Given the description of an element on the screen output the (x, y) to click on. 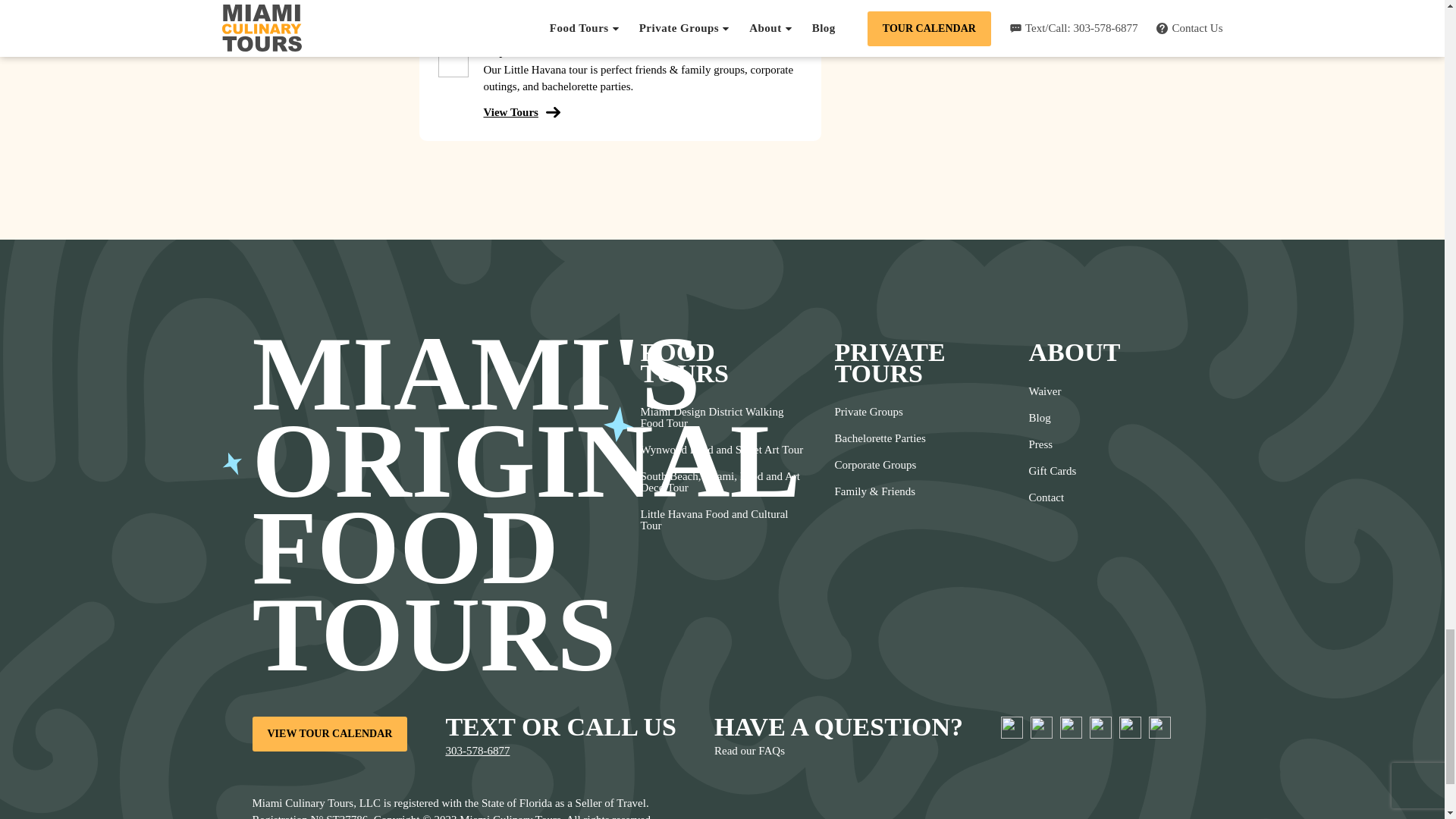
Little Havana Food and Cultural Tour (721, 519)
Bachelorette Parties (879, 438)
Wynwood Food and Street Art Tour (721, 449)
Blog (1051, 417)
South Beach, Miami, Food and Art Deco Tour (721, 482)
Private Groups (879, 411)
View Tours (518, 112)
Miami Design District Walking Food Tour (721, 417)
Waiver (1051, 391)
Corporate Groups (879, 465)
Press (1051, 444)
